Given the description of an element on the screen output the (x, y) to click on. 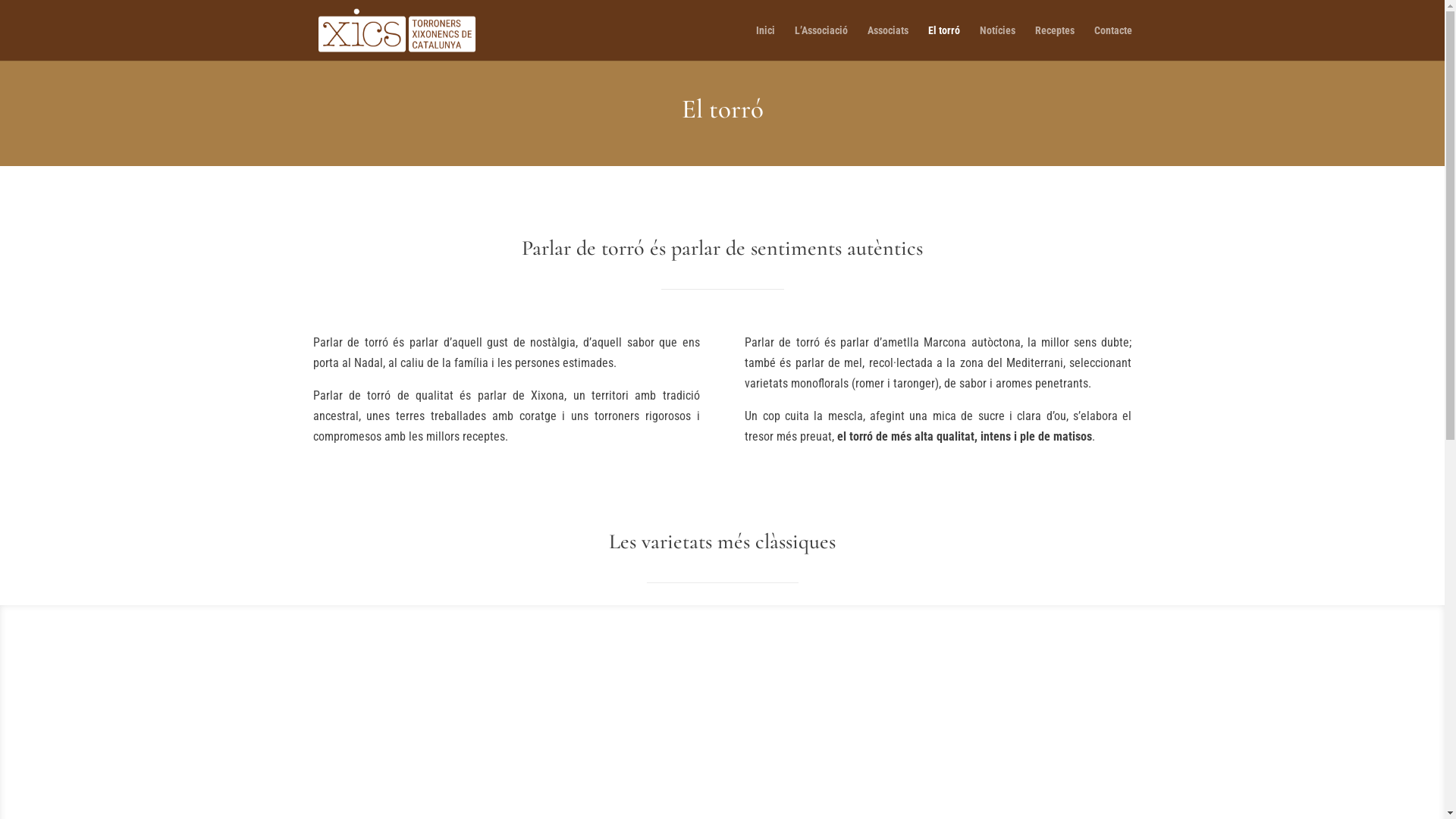
Associats Element type: text (887, 42)
Receptes Element type: text (1053, 42)
Inici Element type: text (764, 42)
Contacte Element type: text (1112, 42)
